Given the description of an element on the screen output the (x, y) to click on. 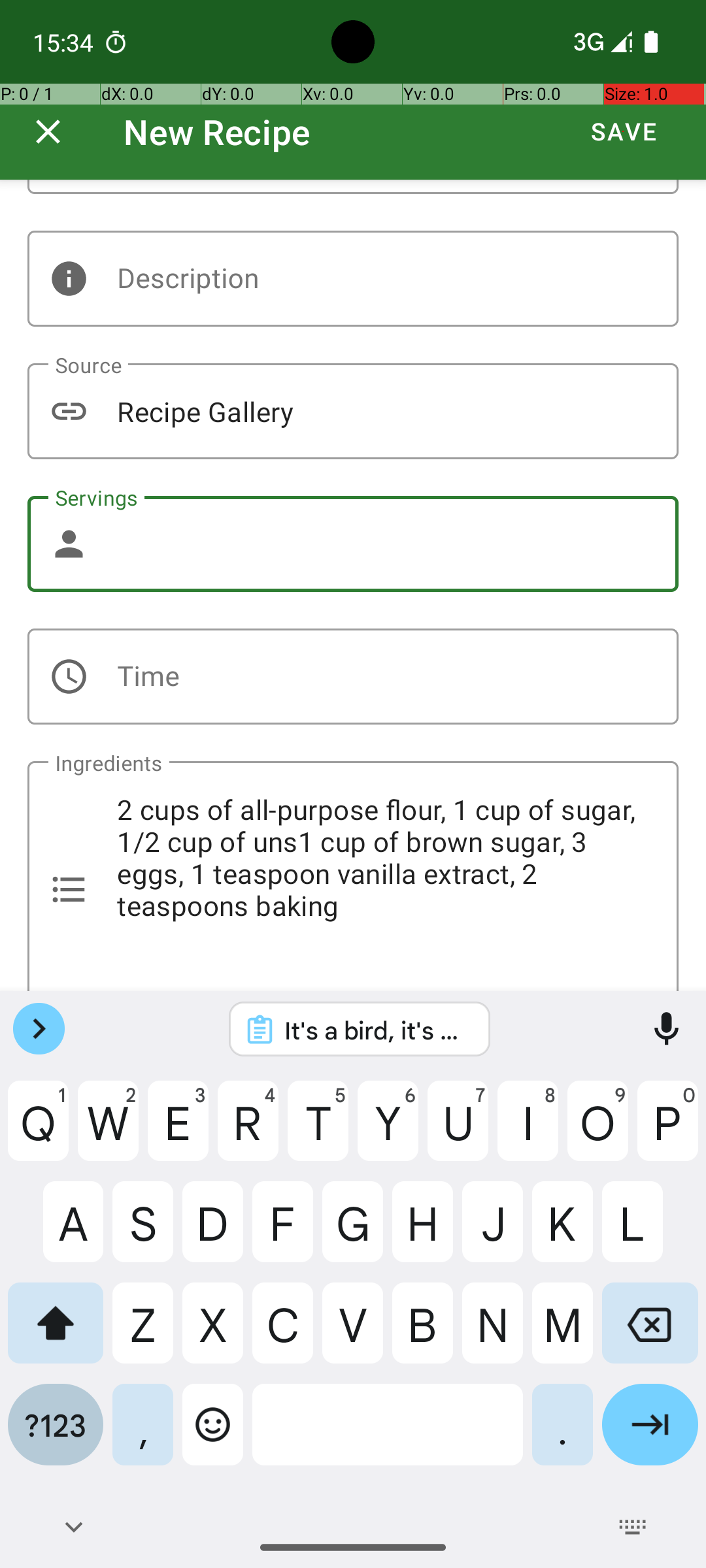
Recipe Gallery Element type: android.widget.EditText (352, 411)
2 cups of all-purpose flour, 1 cup of sugar, 1/2 cup of uns1 cup of brown sugar, 3 eggs, 1 teaspoon vanilla extract, 2 teaspoons baking

 Element type: android.widget.EditText (352, 876)
